Given the description of an element on the screen output the (x, y) to click on. 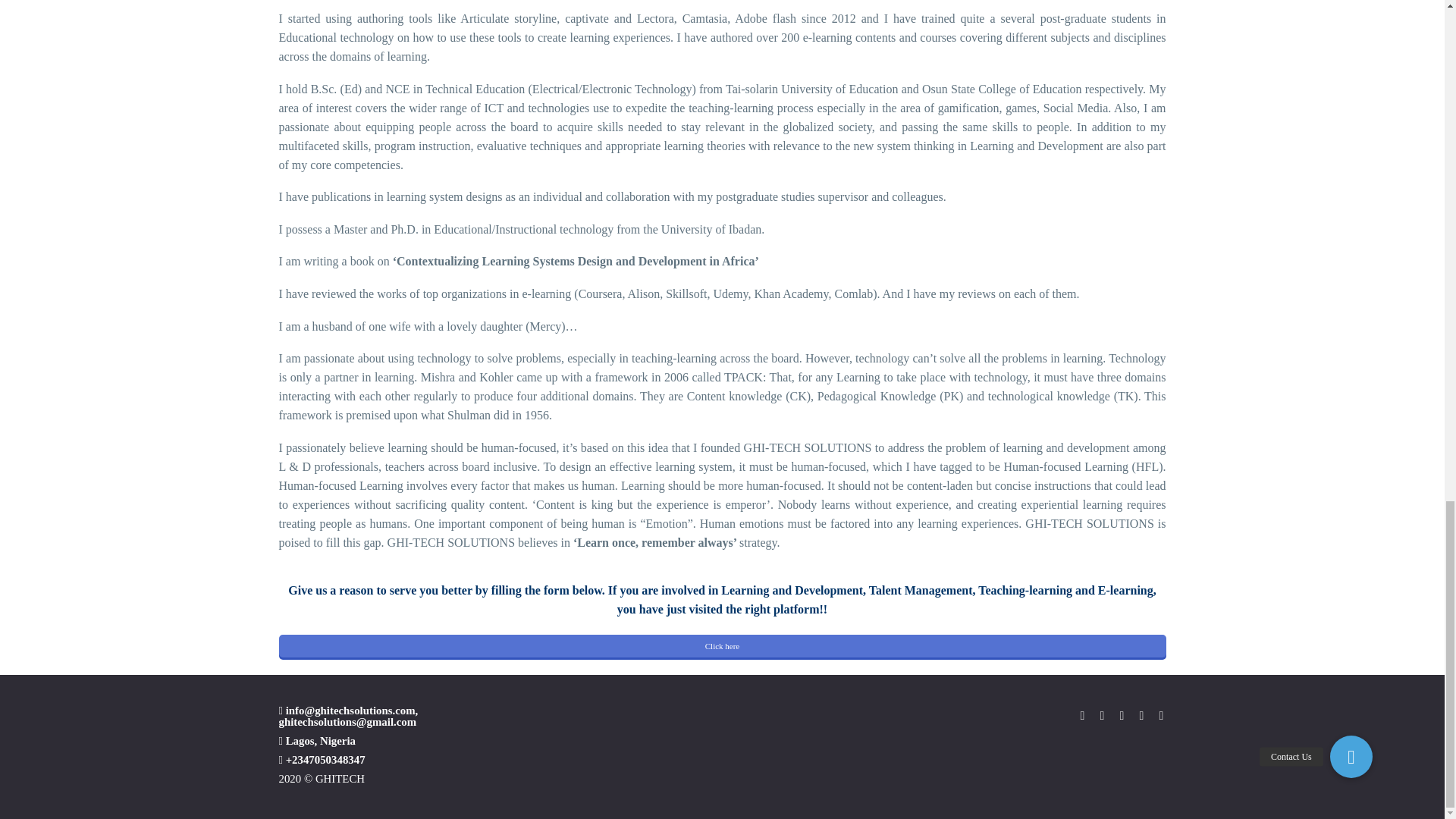
Instagram (1141, 715)
Facebook (1083, 715)
Click Here (722, 645)
Click here (722, 645)
LinkedIn (1102, 715)
Twitter (1122, 715)
YouTube (1161, 715)
